Given the description of an element on the screen output the (x, y) to click on. 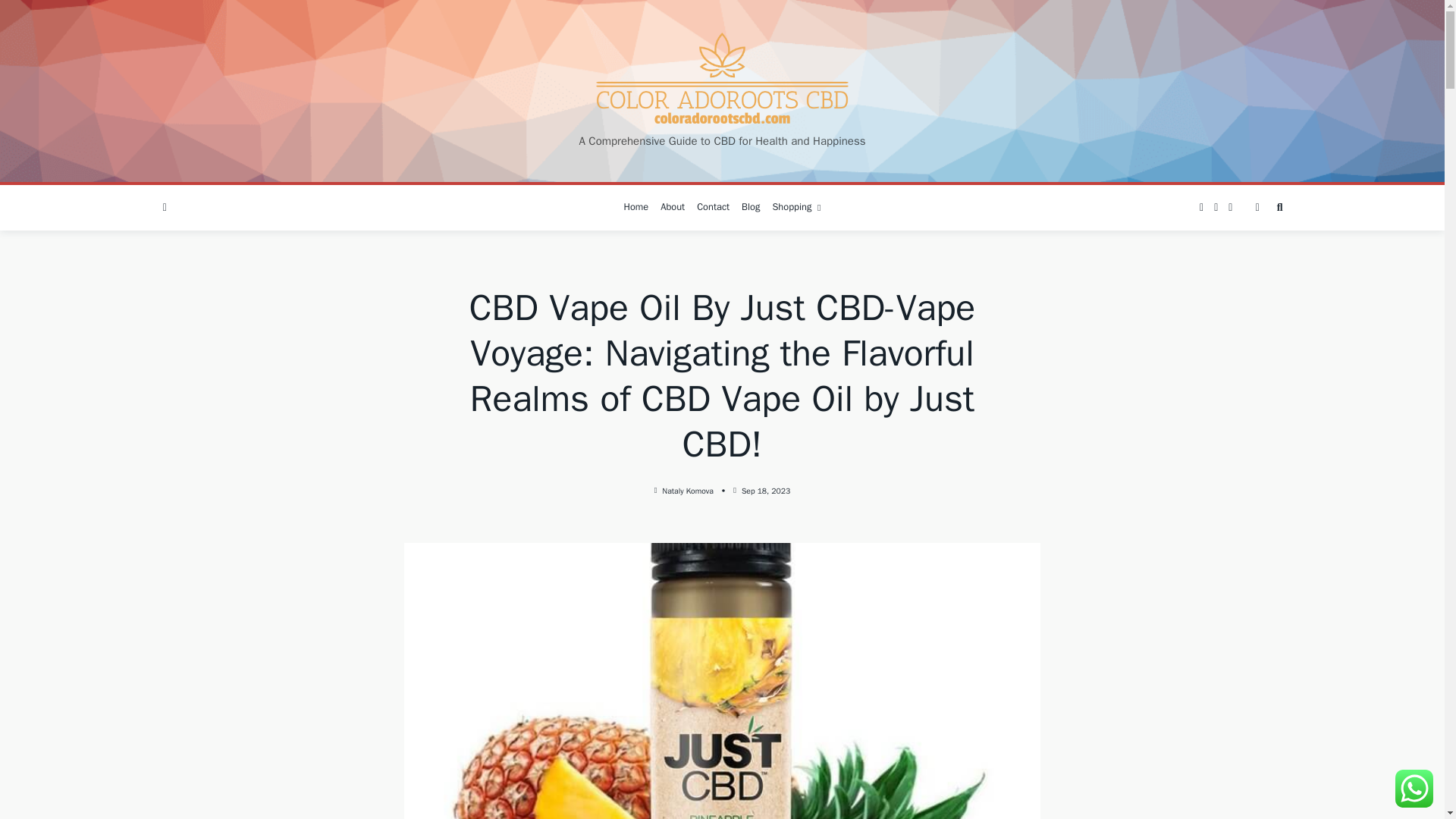
Contact (712, 207)
Blog (750, 207)
About (671, 207)
Home (635, 207)
